Given the description of an element on the screen output the (x, y) to click on. 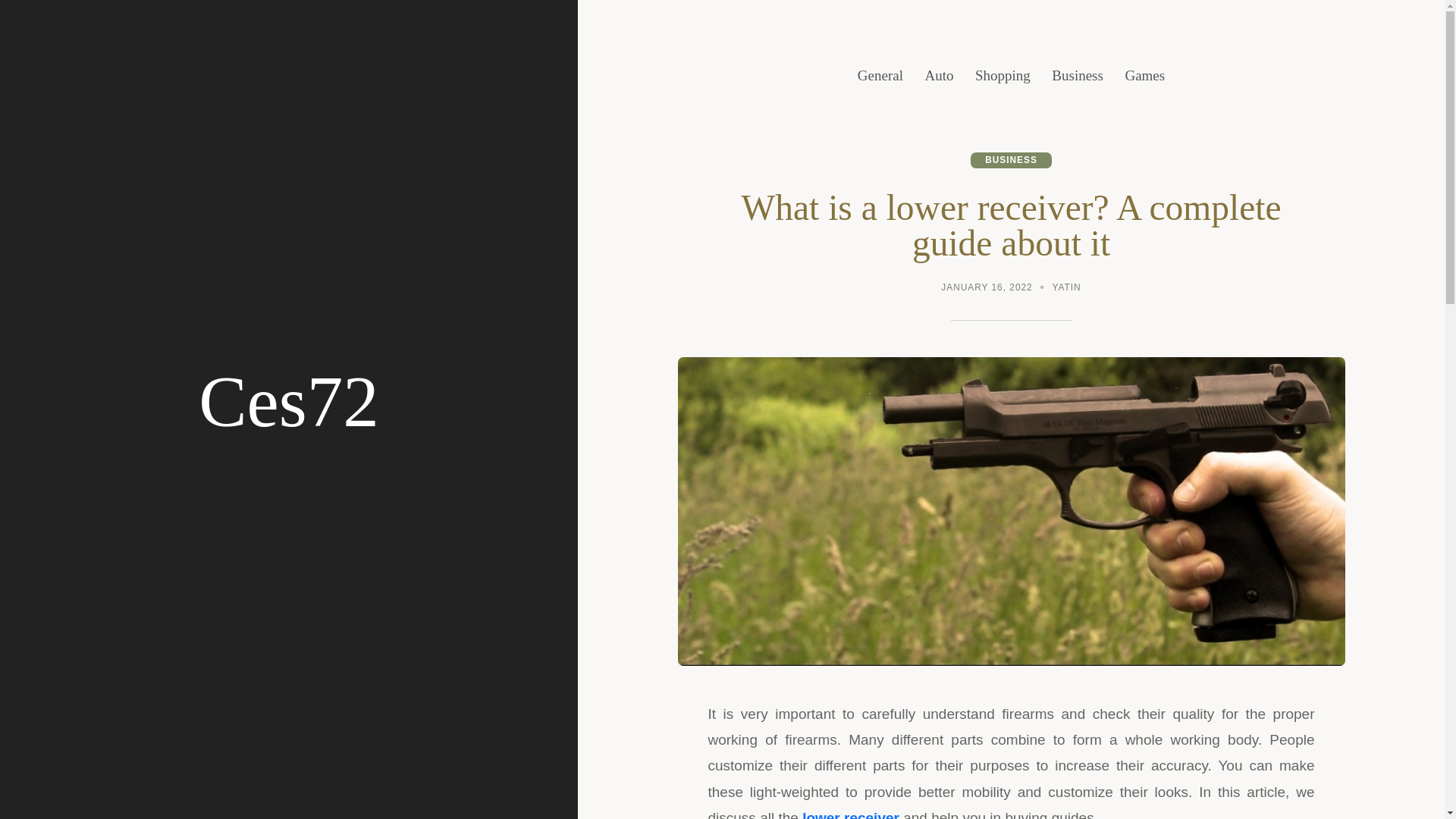
lower receiver (850, 814)
General (879, 76)
JANUARY 16, 2022 (986, 288)
Shopping (1002, 76)
YATIN (1066, 288)
BUSINESS (1011, 160)
Games (1144, 76)
Business (1077, 76)
Ces72 (288, 402)
